Given the description of an element on the screen output the (x, y) to click on. 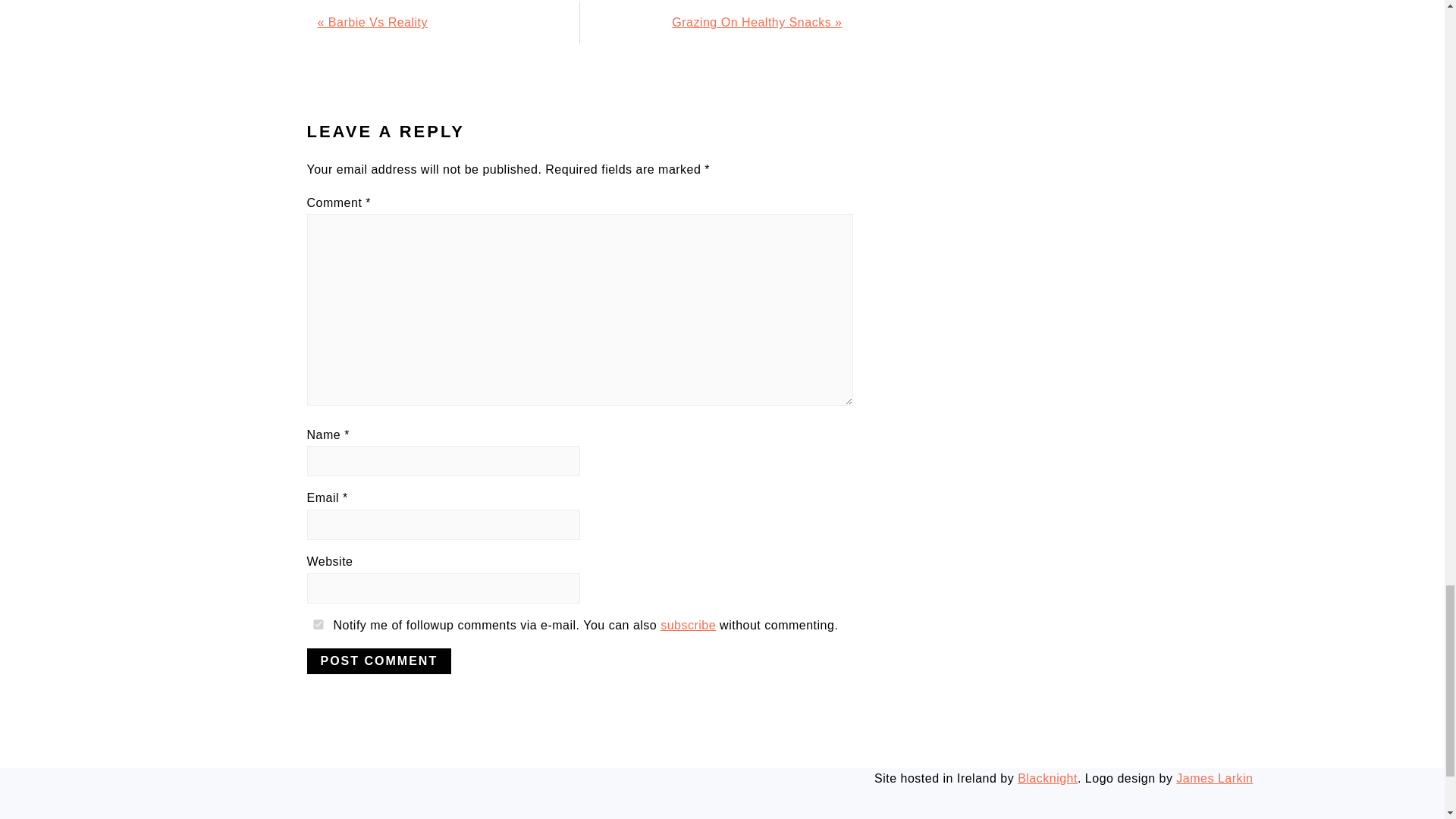
Post Comment (378, 661)
subscribe (688, 625)
yes (317, 624)
Post Comment (378, 661)
